Given the description of an element on the screen output the (x, y) to click on. 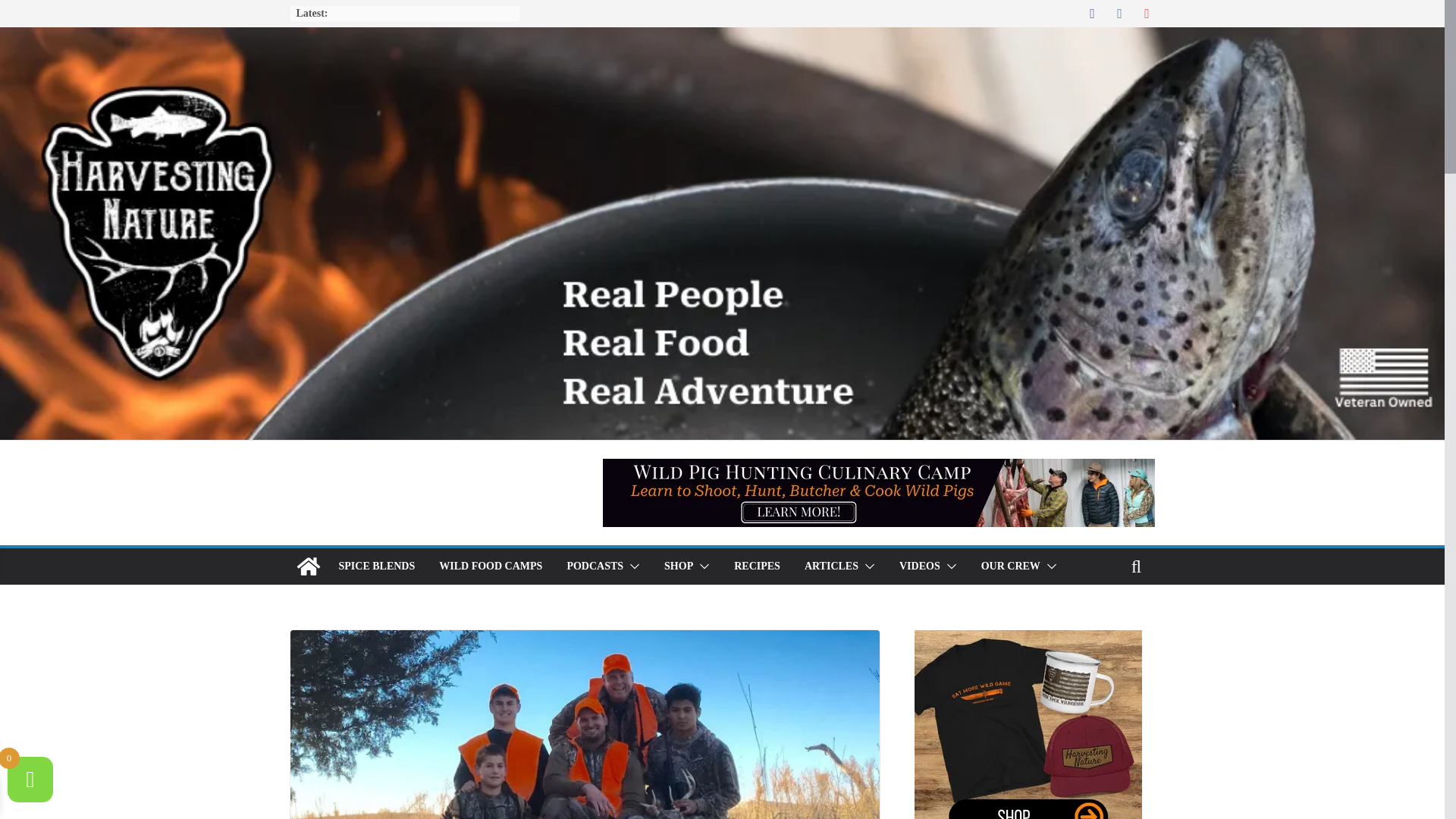
WILD FOOD CAMPS (490, 566)
VIDEOS (919, 566)
Harvesting Nature (307, 565)
ARTICLES (832, 566)
RECIPES (756, 566)
SHOP (678, 566)
OUR CREW (1011, 566)
PODCASTS (594, 566)
SPICE BLENDS (375, 566)
